Given the description of an element on the screen output the (x, y) to click on. 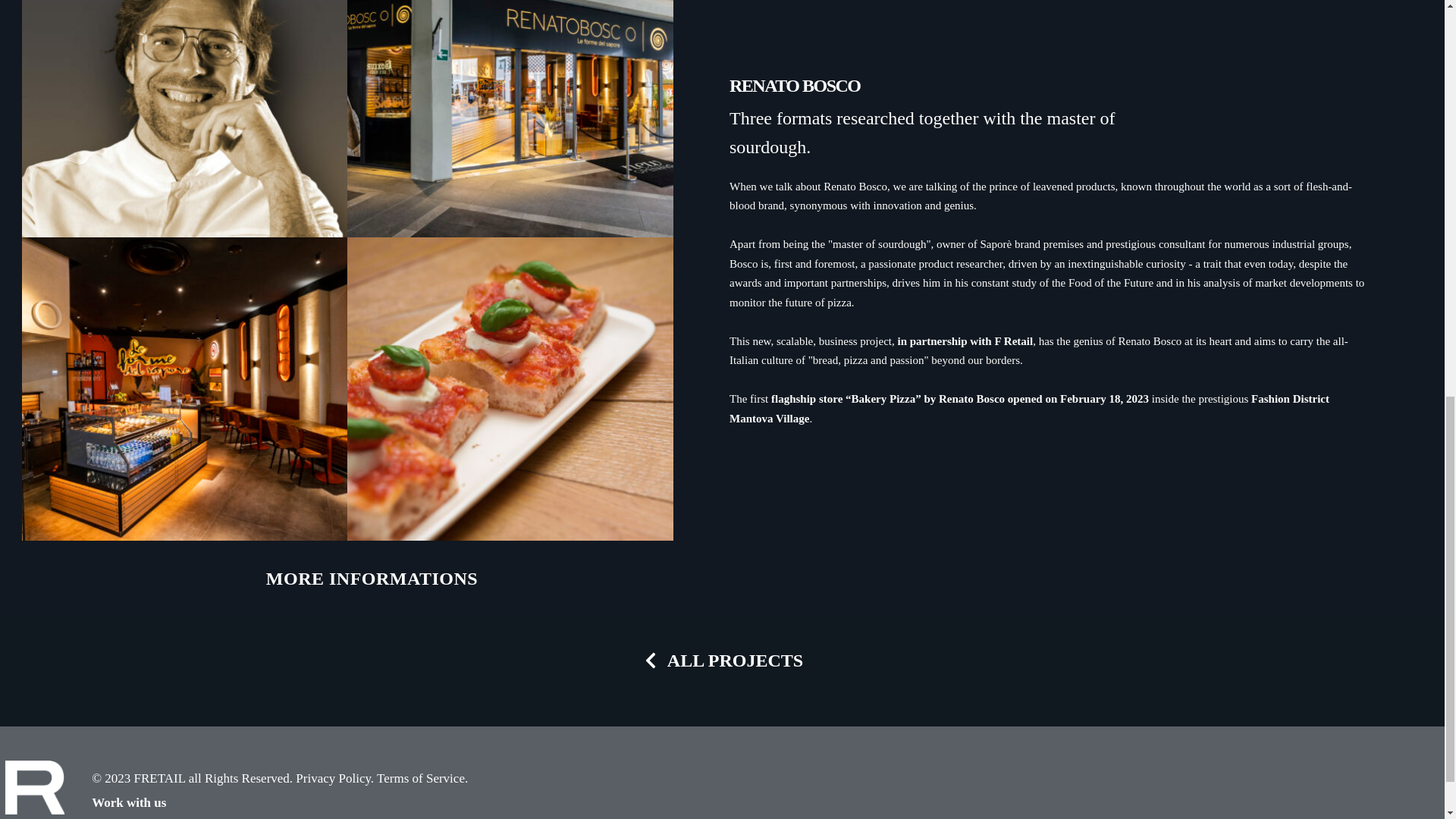
Work with us (128, 802)
ALL PROJECTS (721, 660)
